Given the description of an element on the screen output the (x, y) to click on. 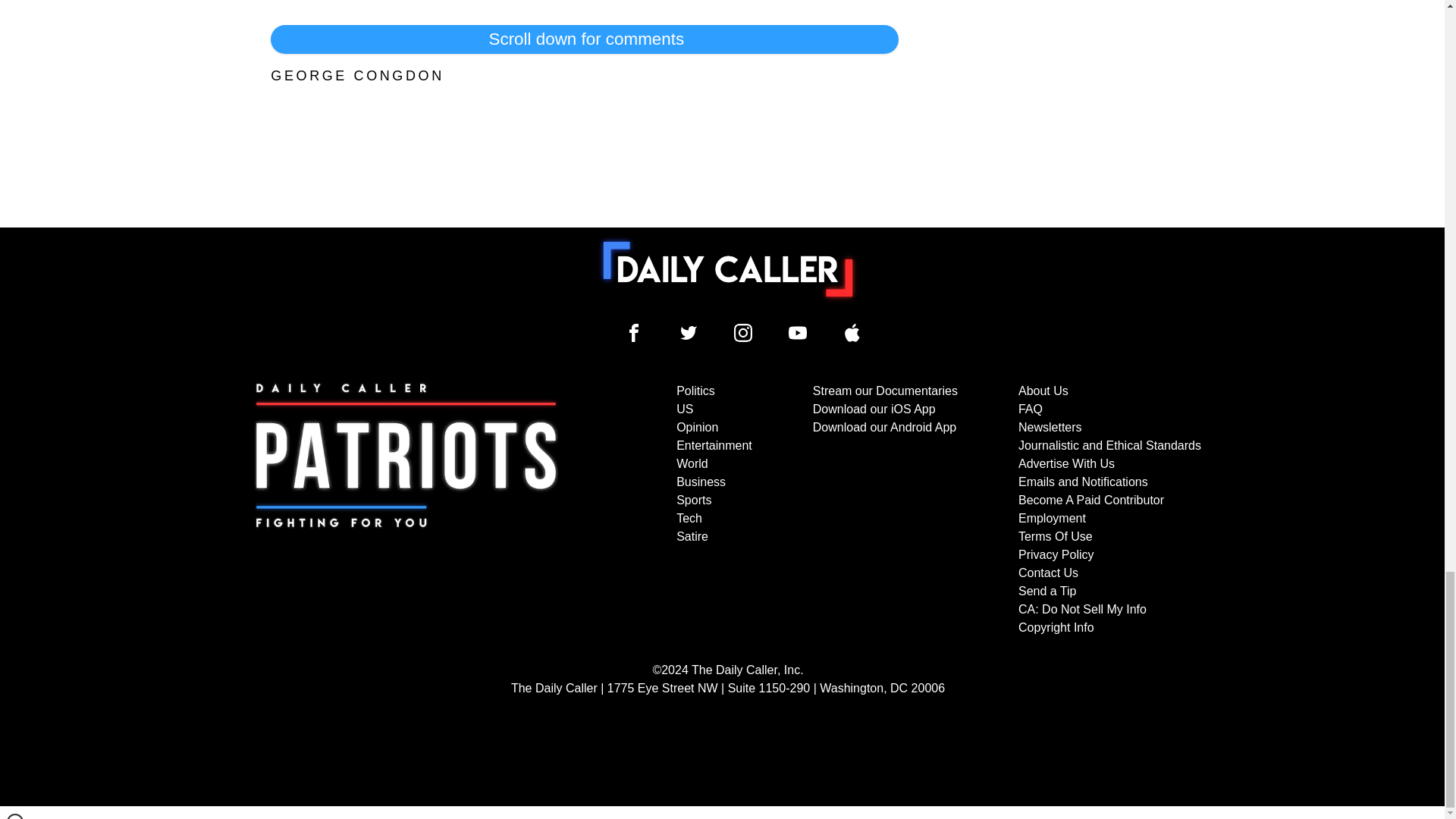
Subscribe to The Daily Caller (405, 509)
Daily Caller Facebook (633, 332)
Daily Caller YouTube (797, 332)
To home page (727, 268)
Scroll down for comments (584, 39)
Daily Caller Twitter (688, 332)
Daily Caller Instagram (742, 332)
Daily Caller YouTube (852, 332)
